Given the description of an element on the screen output the (x, y) to click on. 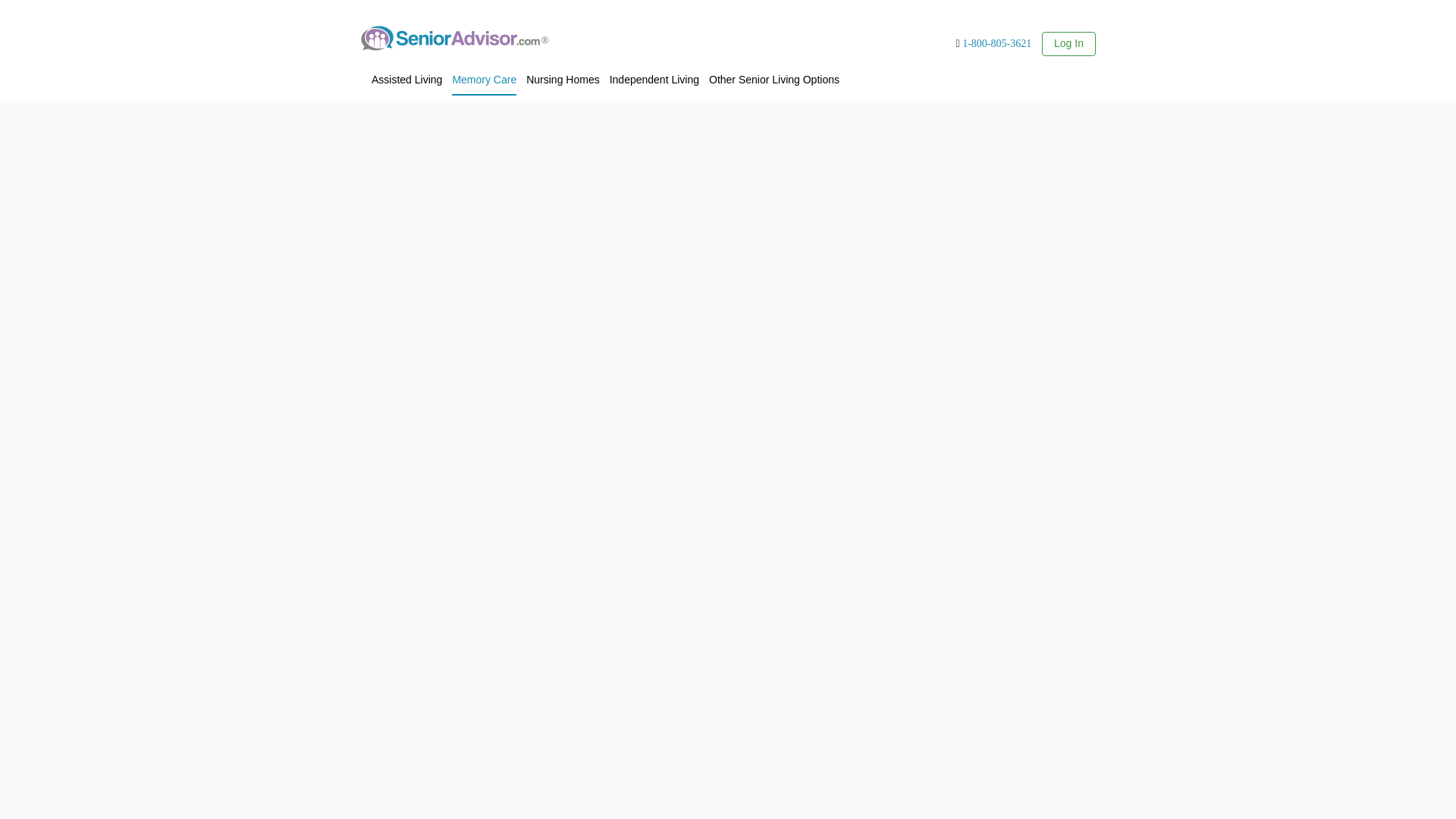
Independent Living (654, 76)
Assisted Living (406, 76)
Nursing Homes (561, 76)
Memory Care (1068, 42)
1-800-805-3621 (483, 76)
Other Senior Living Options (996, 43)
